Given the description of an element on the screen output the (x, y) to click on. 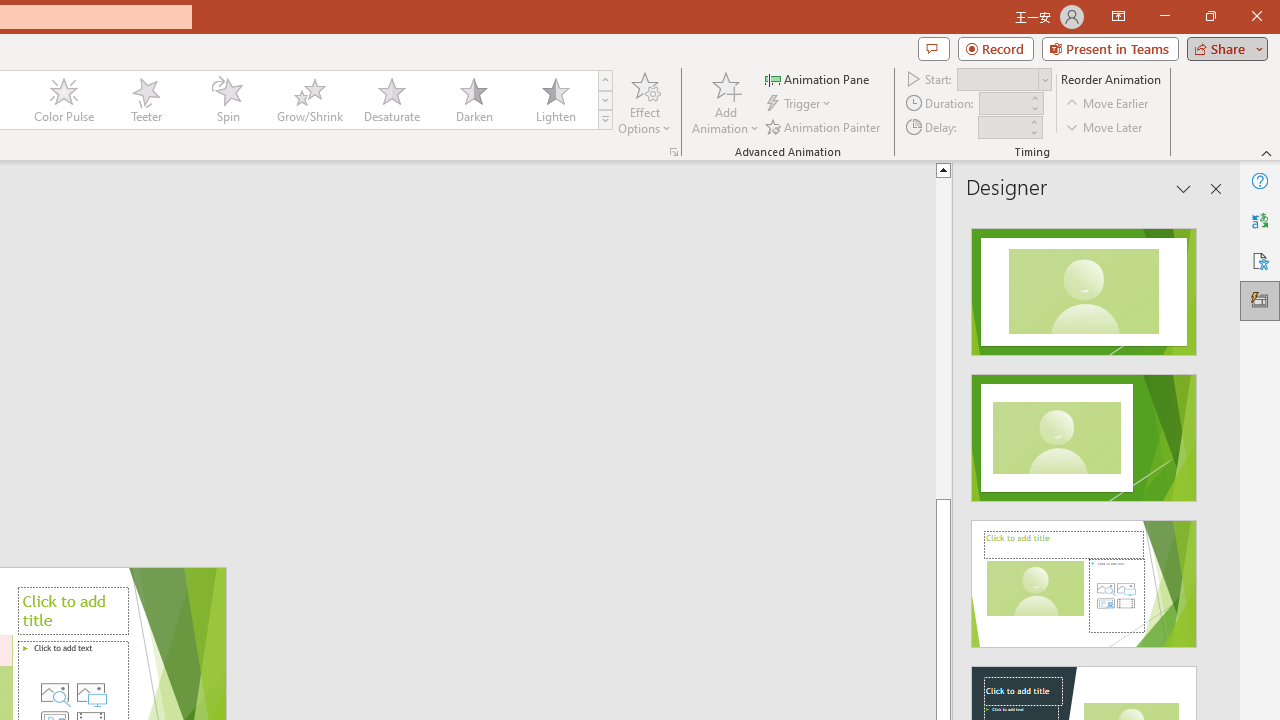
Close pane (1215, 188)
Recommended Design: Design Idea (1083, 286)
